Given the description of an element on the screen output the (x, y) to click on. 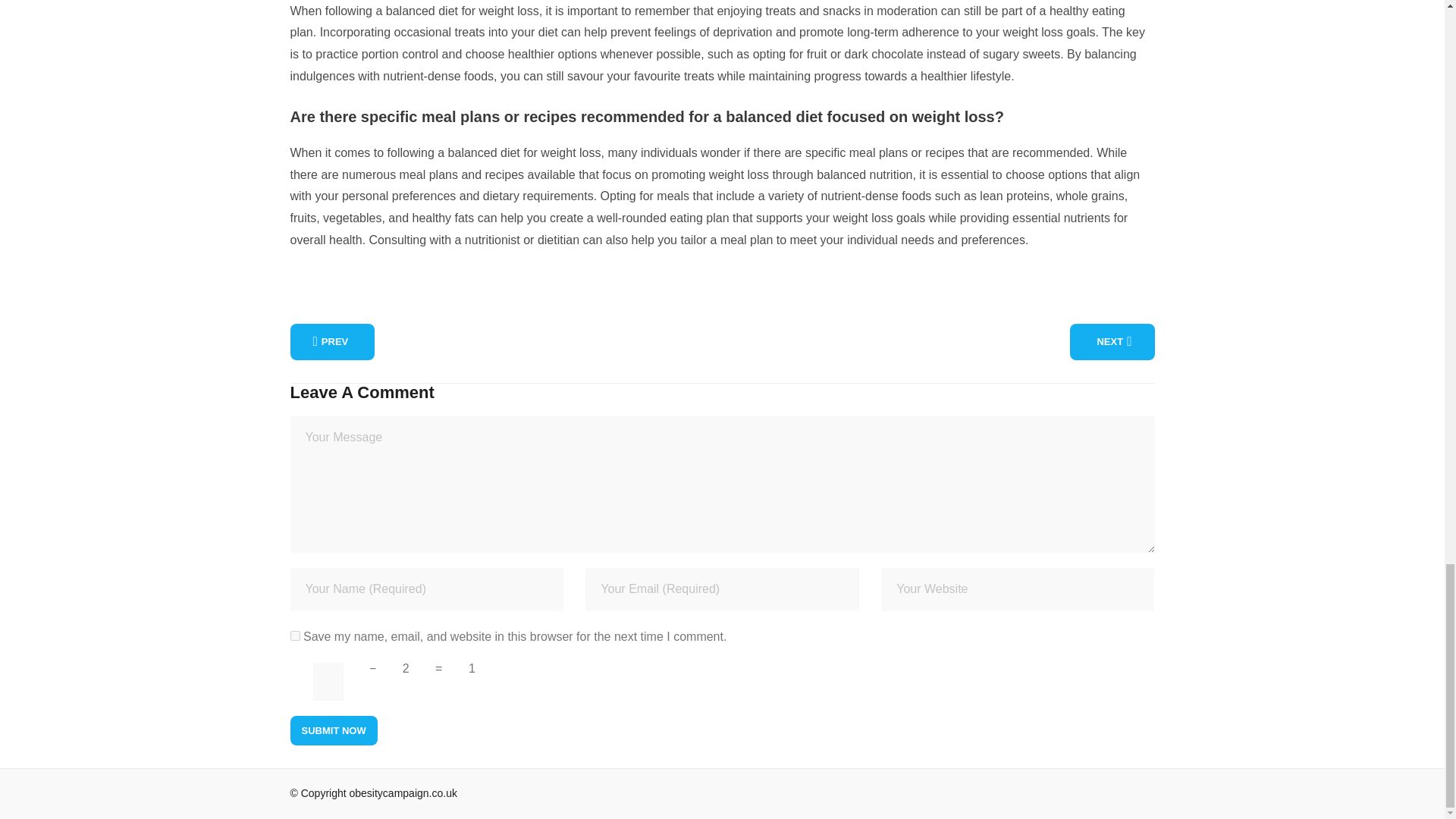
Submit Now (333, 730)
Submit Now (333, 730)
yes (294, 635)
NEXT (1112, 341)
PREV (331, 341)
